Given the description of an element on the screen output the (x, y) to click on. 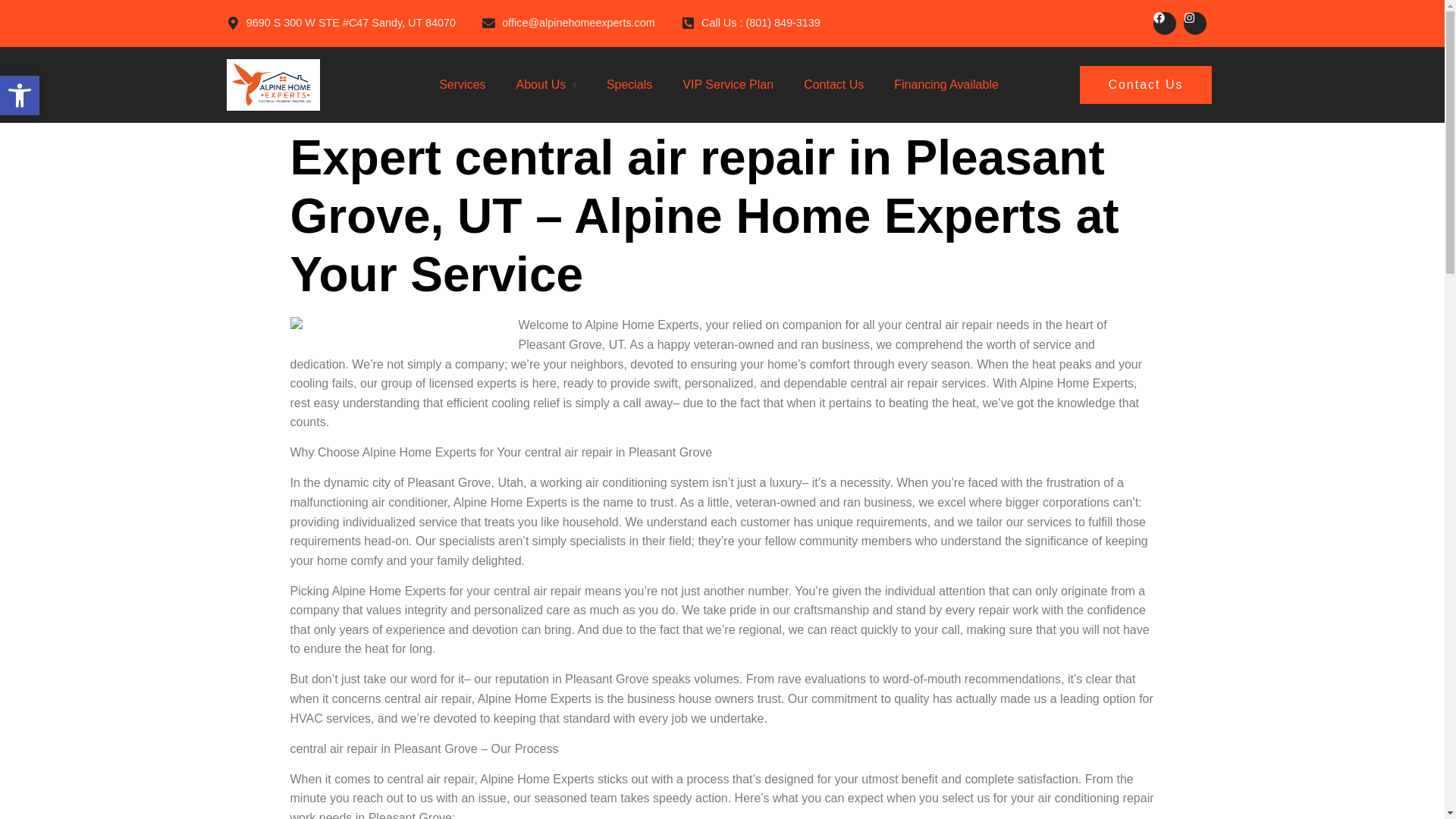
Specials (629, 85)
Financing Available (945, 85)
Contact Us (1145, 85)
Contact Us (833, 85)
About Us (541, 85)
Accessibility Tools (19, 95)
Accessibility Tools (19, 95)
Services (19, 95)
VIP Service Plan (461, 85)
